Given the description of an element on the screen output the (x, y) to click on. 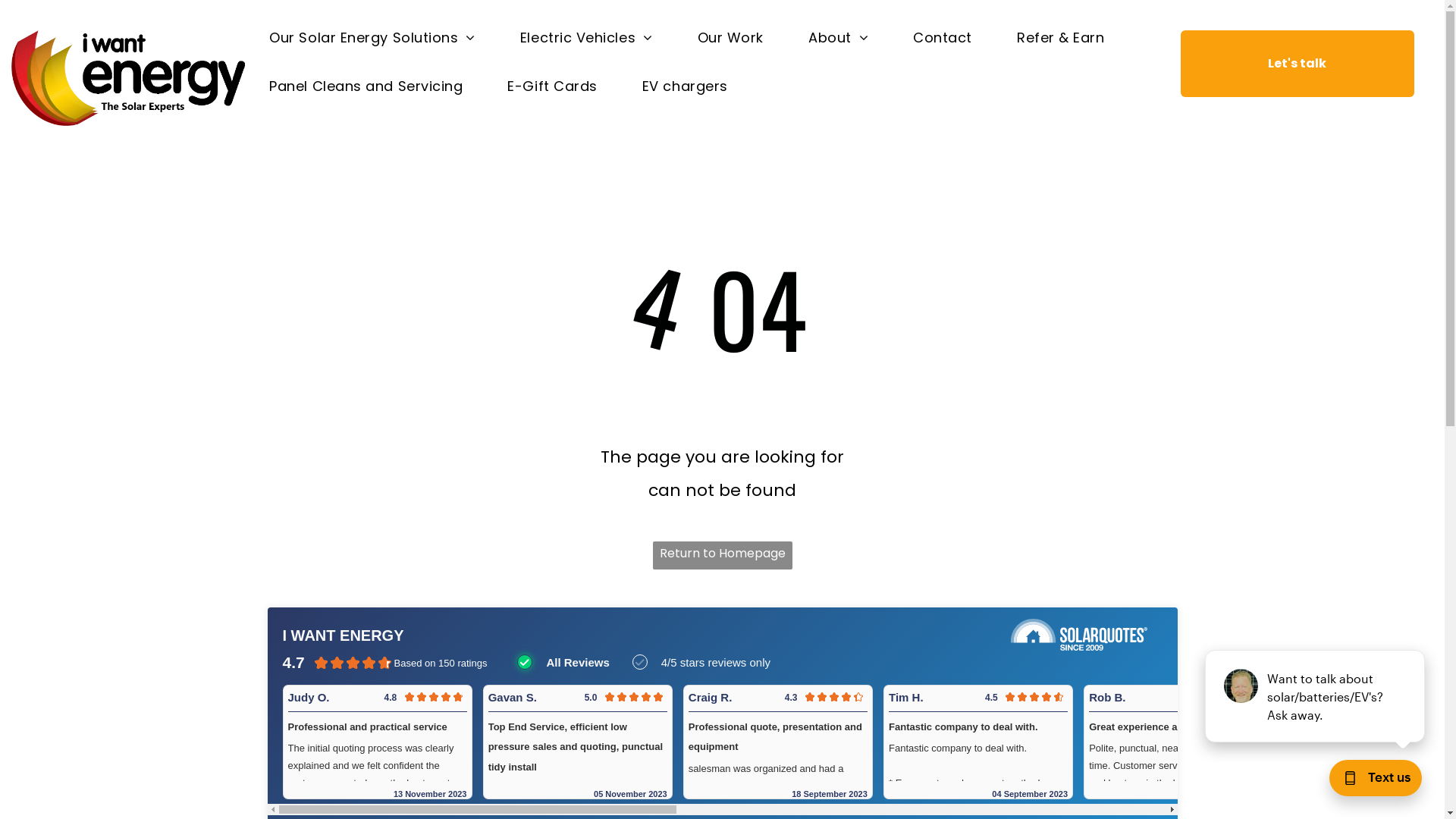
Return to Homepage Element type: text (721, 555)
Our Solar Energy Solutions Element type: text (372, 37)
Panel Cleans and Servicing Element type: text (365, 86)
About Element type: text (837, 37)
Our Work Element type: text (730, 37)
I WANT ENERGY Element type: text (342, 635)
podium webchat widget prompt Element type: hover (1315, 696)
EV chargers Element type: text (684, 86)
Let's talk Element type: text (1297, 63)
Electric Vehicles Element type: text (586, 37)
E-Gift Cards Element type: text (551, 86)
Refer & Earn Element type: text (1060, 37)
Contact Element type: text (942, 37)
